Given the description of an element on the screen output the (x, y) to click on. 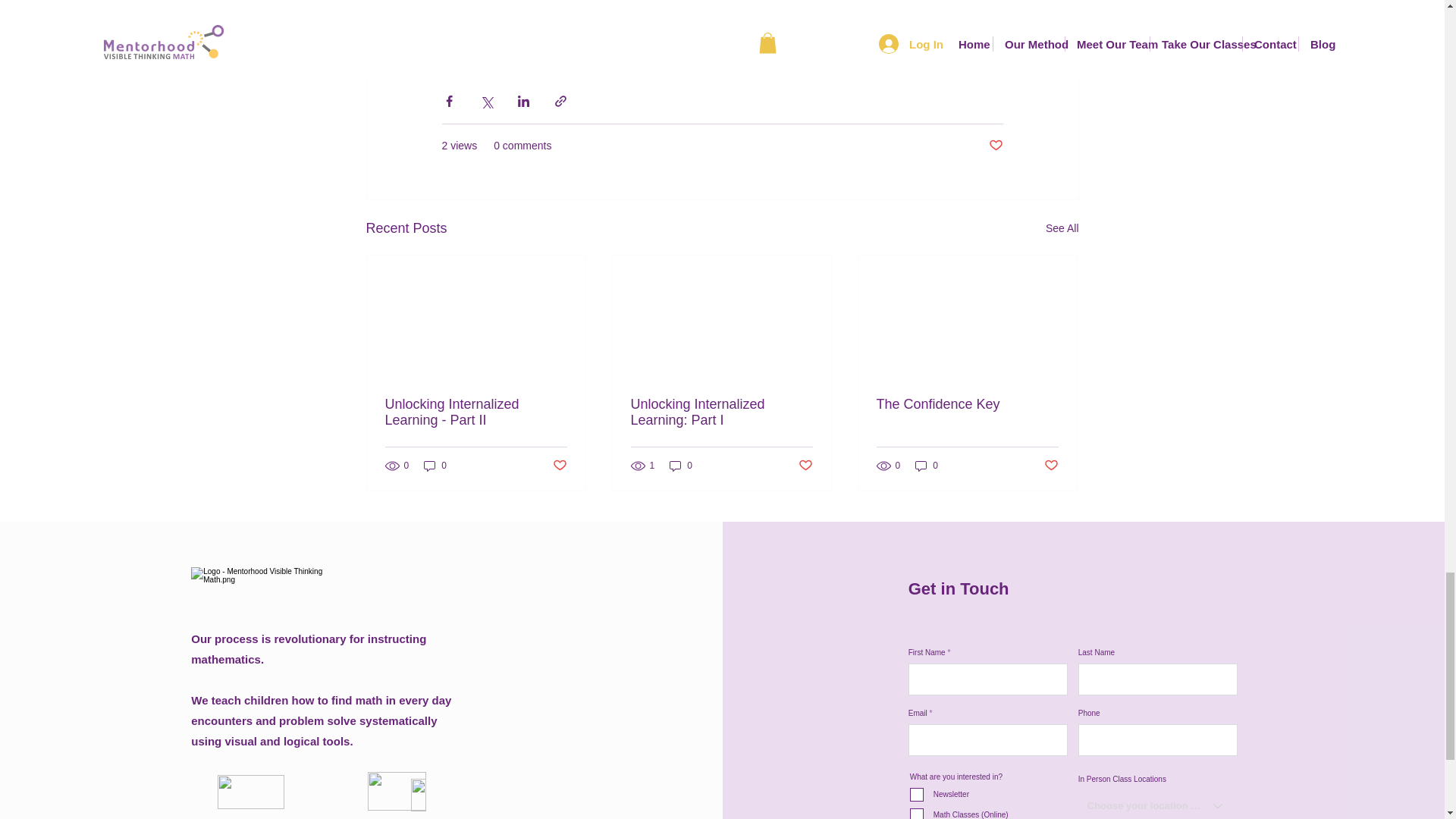
Post not marked as liked (558, 465)
See All (1061, 228)
Unlocking Internalized Learning - Part II (476, 412)
0 (681, 465)
Post not marked as liked (804, 465)
Post not marked as liked (995, 145)
Unlocking Internalized Learning: Part I (721, 412)
0 (435, 465)
